Given the description of an element on the screen output the (x, y) to click on. 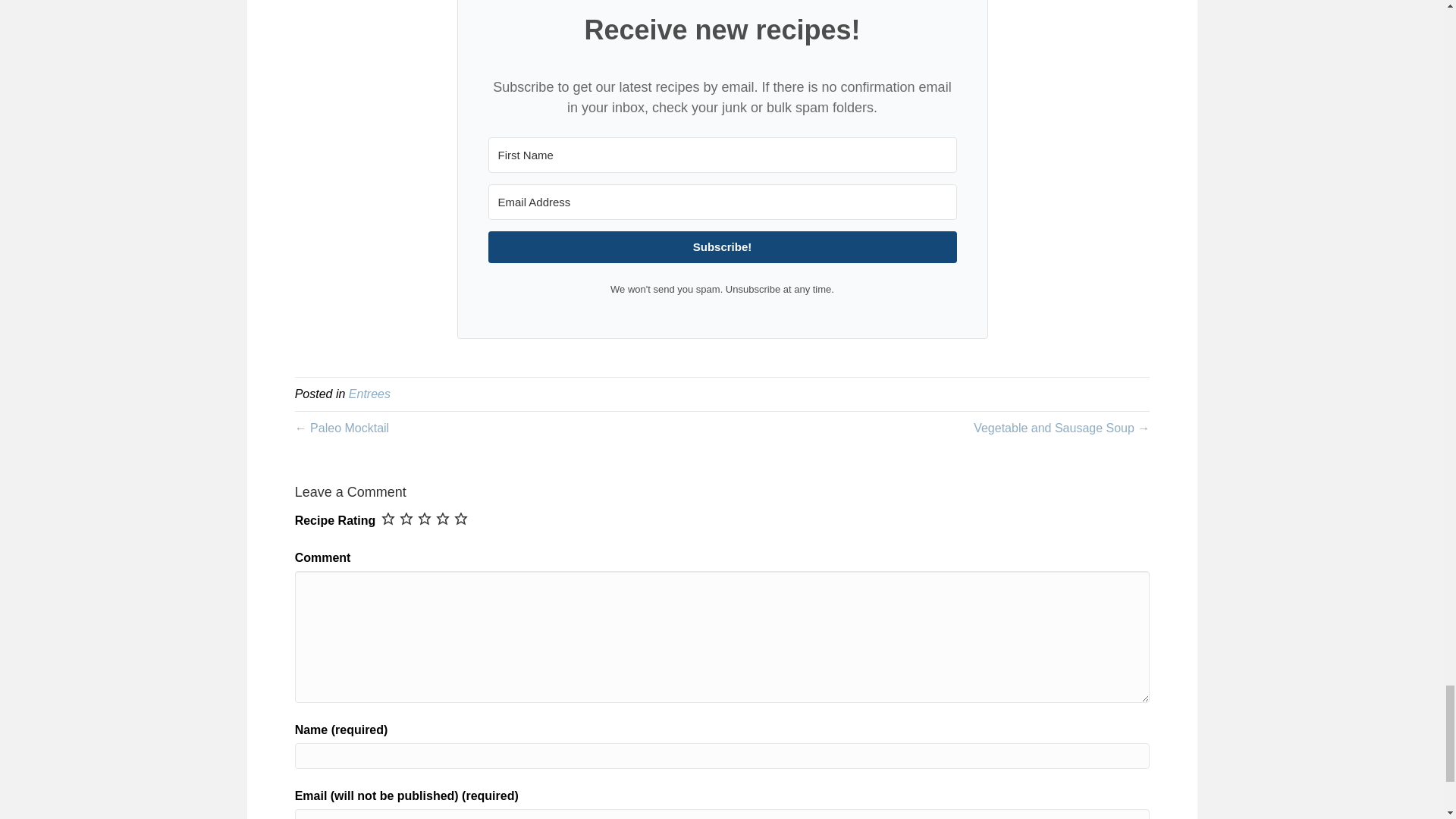
Subscribe! (721, 246)
Entrees (369, 393)
